Given the description of an element on the screen output the (x, y) to click on. 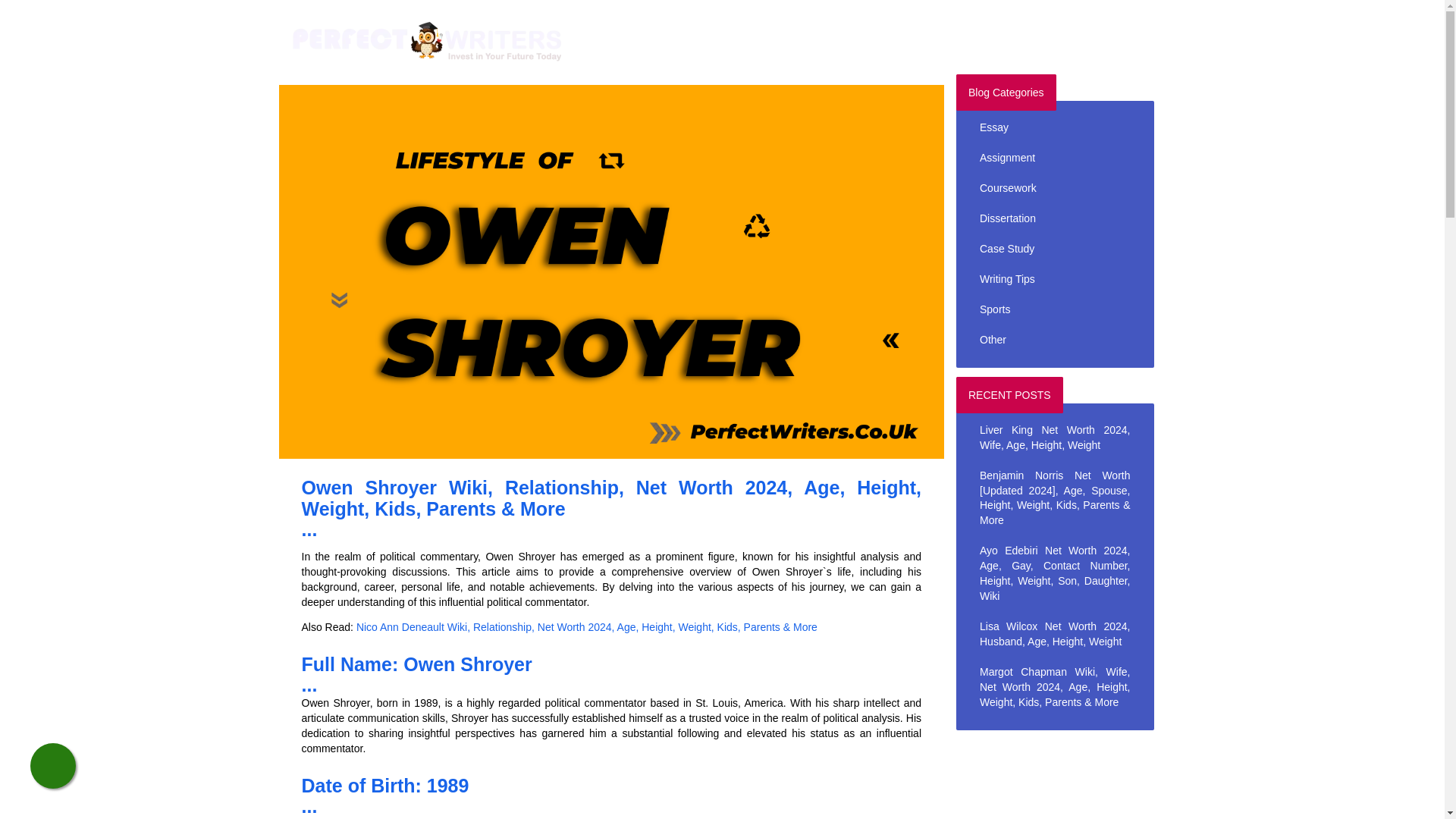
My Account (1104, 29)
Case Study (1054, 249)
Liver King Net Worth 2024, Wife, Age, Height, Weight (1054, 438)
Lisa Wilcox Net Worth 2024, Husband, Age, Height, Weight (1054, 634)
Coursework (1054, 188)
About Us (845, 30)
Services (780, 30)
Contact Us (916, 30)
Dissertation (1054, 218)
Essay (1054, 128)
